Given the description of an element on the screen output the (x, y) to click on. 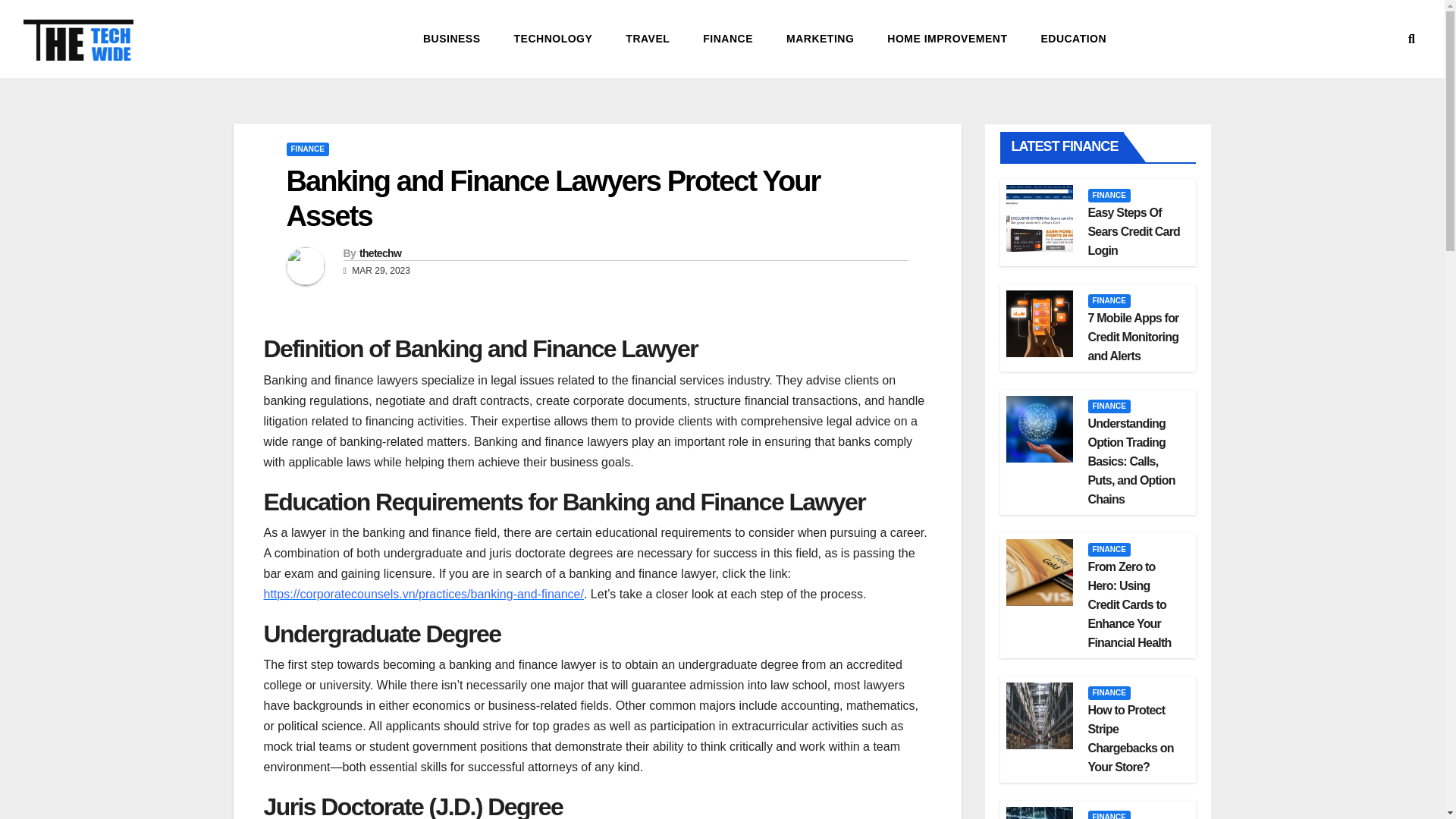
thetechw (380, 253)
Education (1072, 38)
Business (451, 38)
FINANCE (727, 38)
FINANCE (1108, 195)
Home Improvement (946, 38)
TRAVEL (646, 38)
EDUCATION (1072, 38)
Travel (646, 38)
FINANCE (307, 149)
Finance (727, 38)
MARKETING (820, 38)
Banking and Finance Lawyers Protect Your Assets (553, 198)
TECHNOLOGY (553, 38)
